Given the description of an element on the screen output the (x, y) to click on. 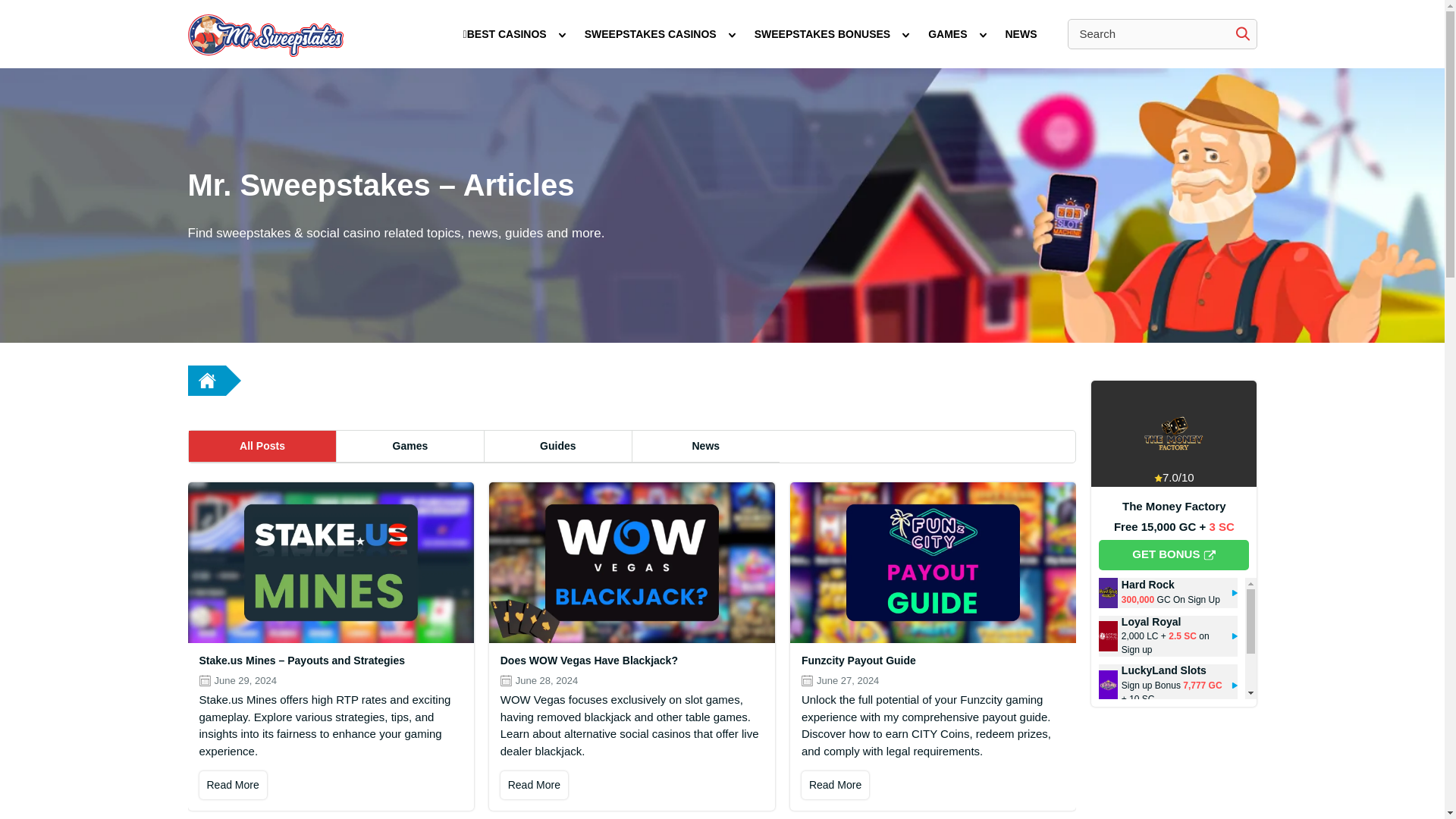
Go to Mr Sweepstakes. (206, 380)
SWEEPSTAKES CASINOS (650, 33)
